Given the description of an element on the screen output the (x, y) to click on. 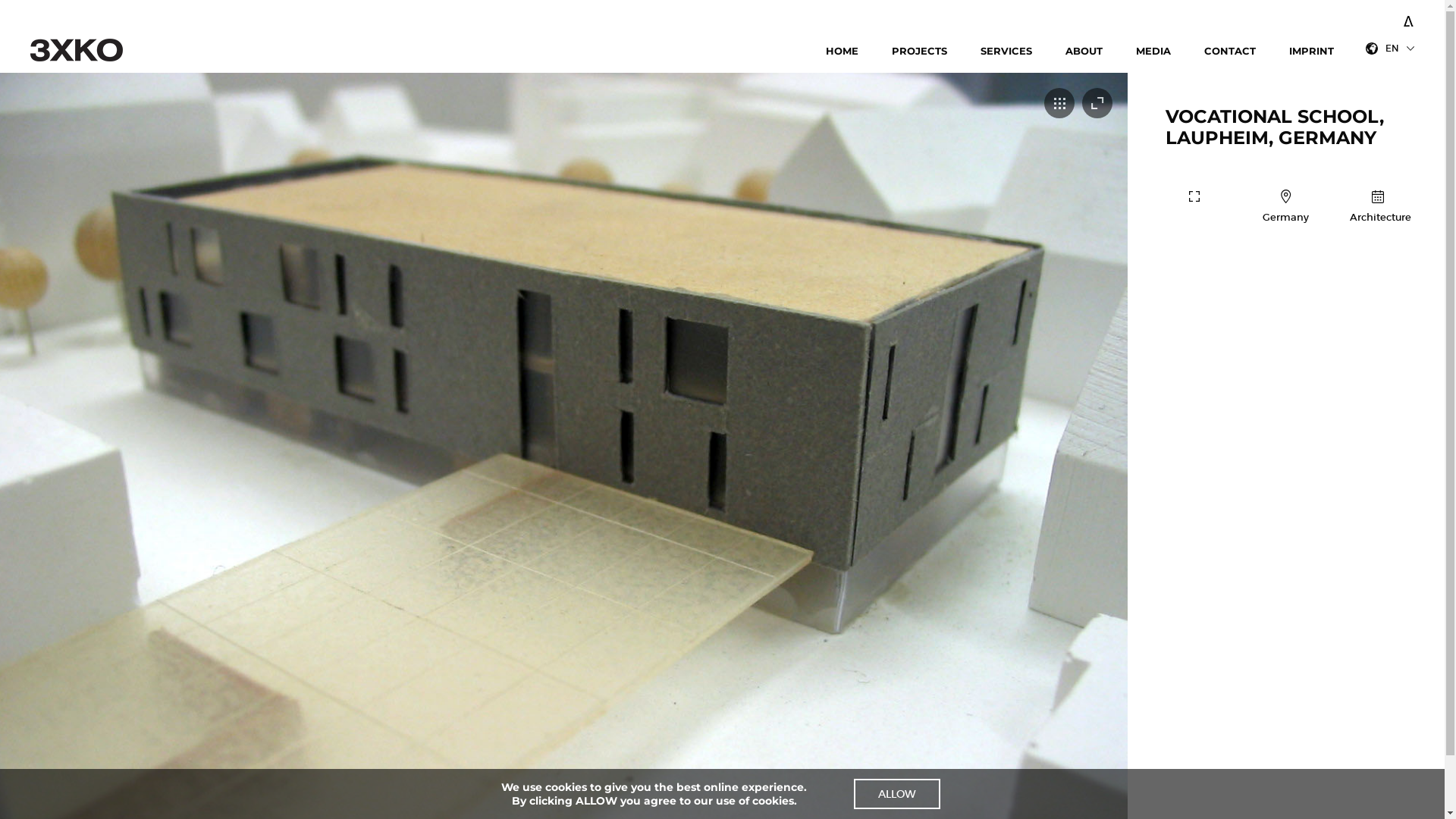
ALLOW Element type: text (896, 793)
CONTACT Element type: text (1229, 51)
ABOUT Element type: text (1083, 51)
SERVICES Element type: text (1006, 51)
PROJECTS Element type: text (919, 51)
IMPRINT Element type: text (1311, 51)
MEDIA Element type: text (1152, 51)
3XKO Element type: hover (91, 49)
Linkedin Element type: hover (1395, 17)
Facebook Element type: hover (1372, 17)
Instagram Element type: hover (1387, 17)
Twitter Element type: hover (1379, 17)
Architizer Element type: hover (1408, 14)
HOME Element type: text (841, 51)
